Given the description of an element on the screen output the (x, y) to click on. 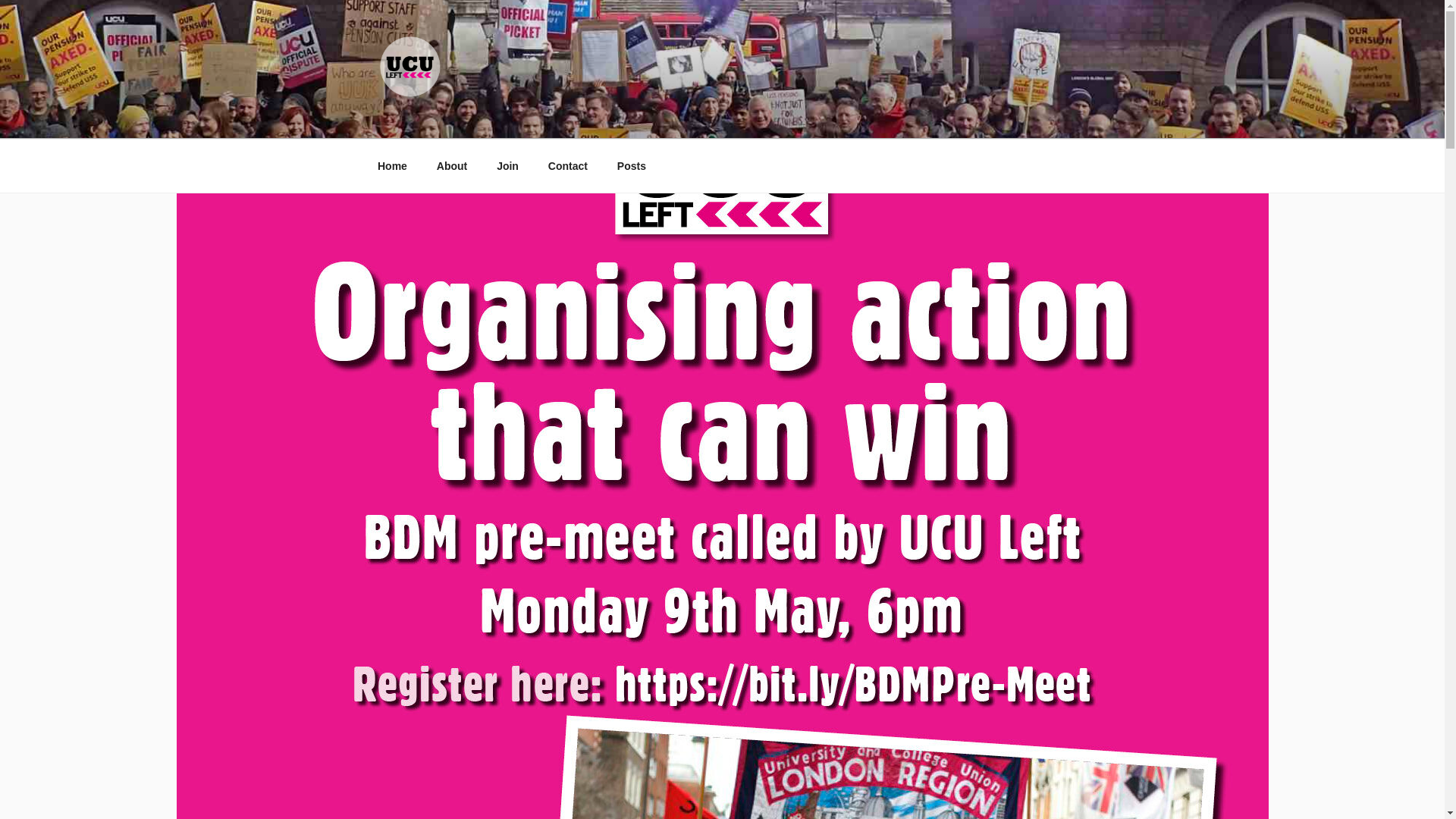
Join (507, 165)
Home (392, 165)
Posts (631, 165)
Contact (566, 165)
UCU LEFT (454, 119)
About (451, 165)
